Given the description of an element on the screen output the (x, y) to click on. 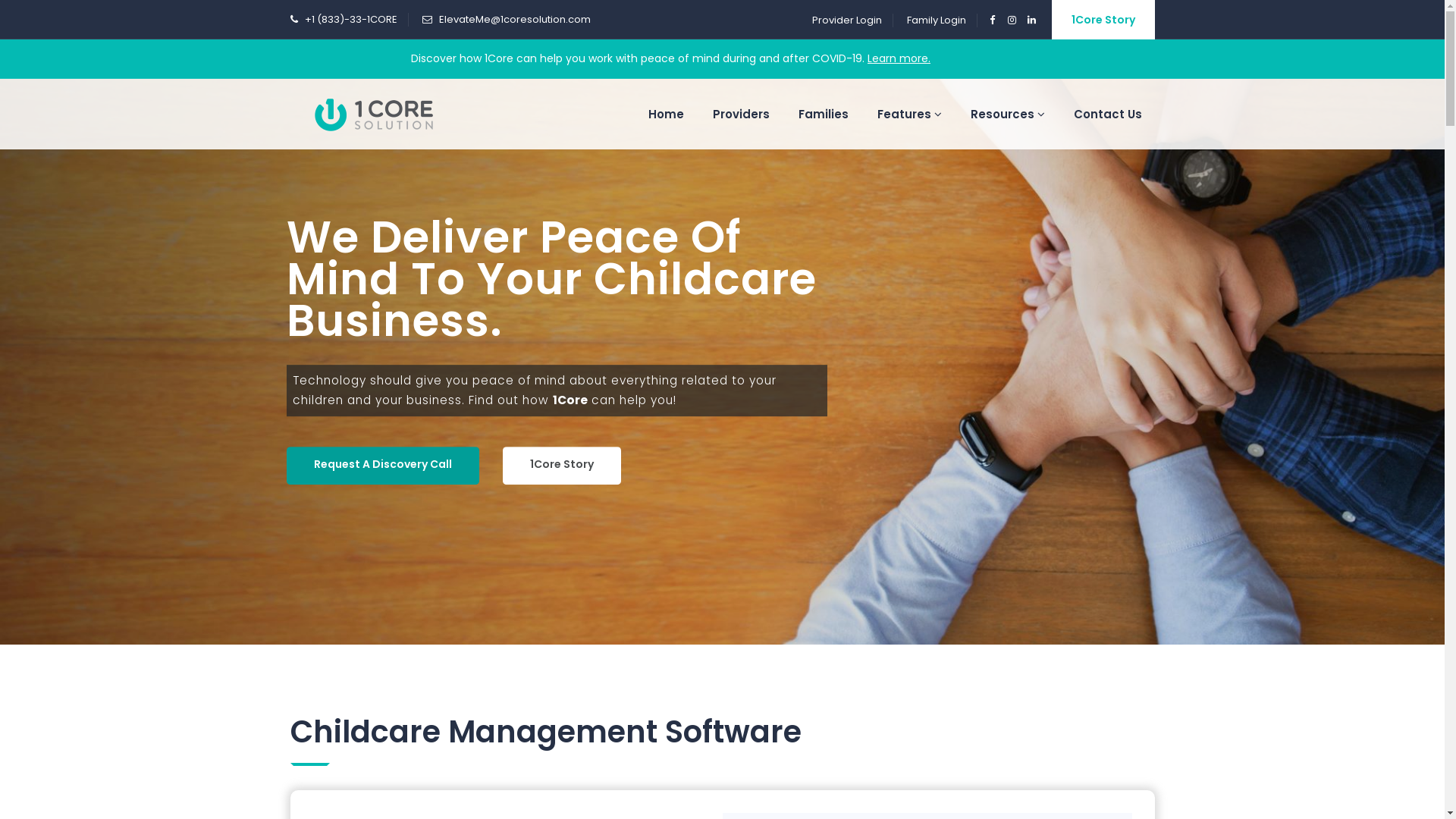
Learn more. Element type: text (898, 57)
Features Element type: text (909, 113)
Family Login Element type: text (936, 19)
1Core Story Element type: text (561, 465)
1Core Story Element type: text (1102, 19)
Contact Us Element type: text (1107, 113)
Providers Element type: text (740, 113)
ElevateMe@1coresolution.com Element type: text (513, 19)
Resources Element type: text (1007, 113)
Home Element type: text (665, 113)
Families Element type: text (823, 113)
1Core Element type: hover (373, 113)
Provider Login Element type: text (846, 19)
Request A Discovery Call Element type: text (382, 465)
